Given the description of an element on the screen output the (x, y) to click on. 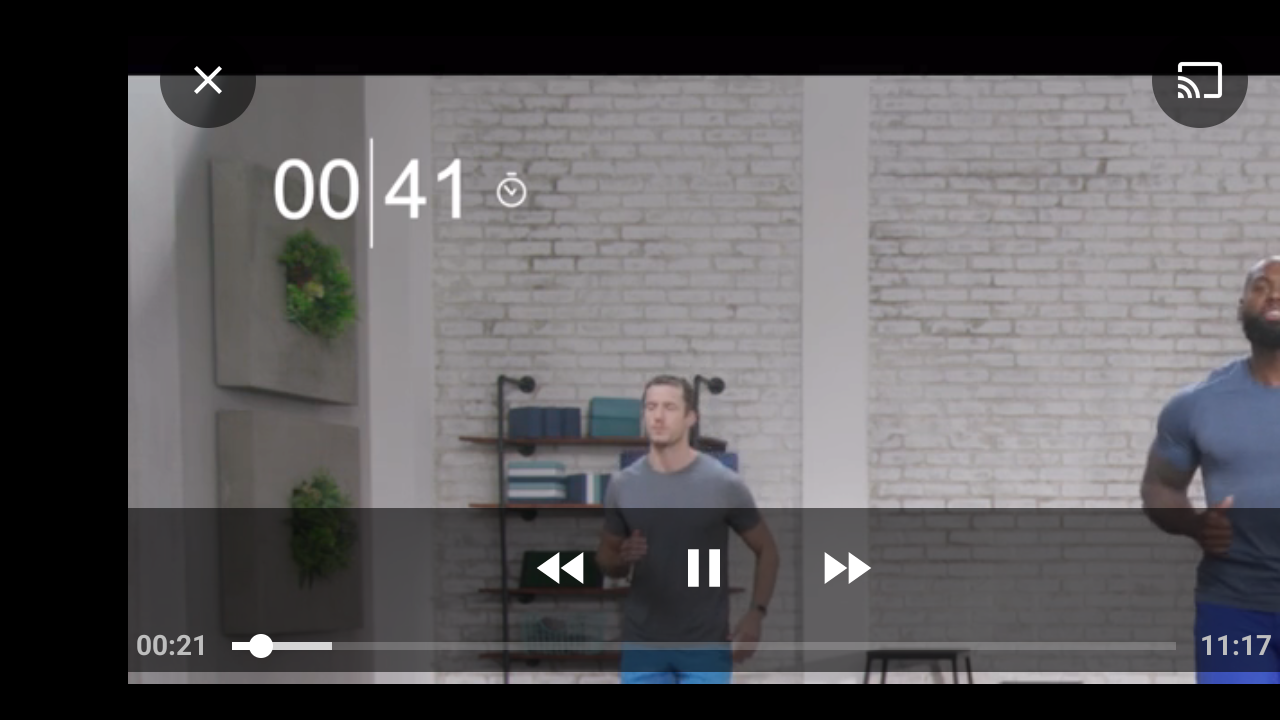
Cast. Disconnected (1200, 79)
Rewind (562, 567)
Pause (703, 567)
Fast forward (845, 567)
